Given the description of an element on the screen output the (x, y) to click on. 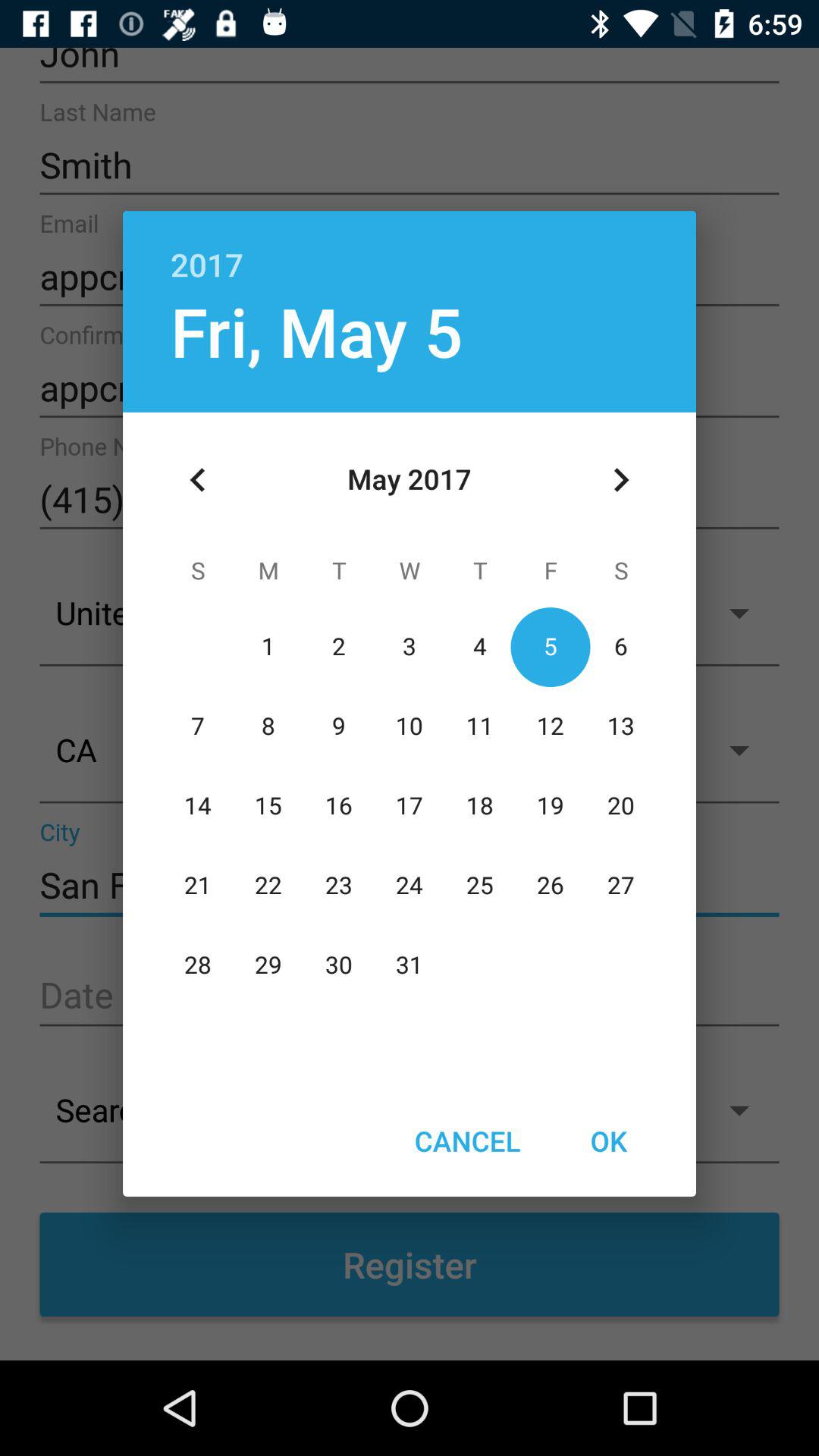
press the item above ok item (620, 479)
